Given the description of an element on the screen output the (x, y) to click on. 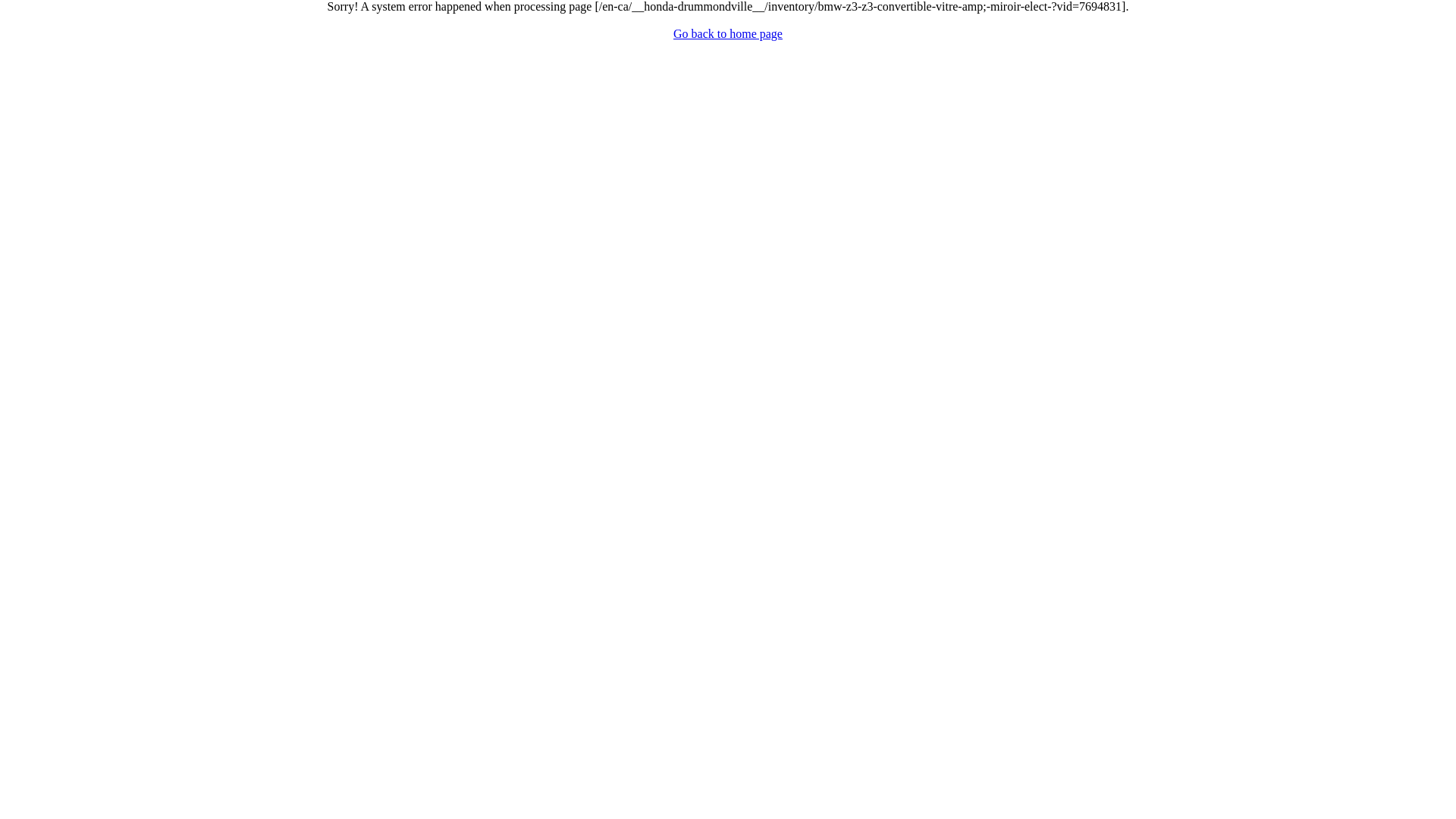
Go back to home page Element type: text (727, 33)
